Given the description of an element on the screen output the (x, y) to click on. 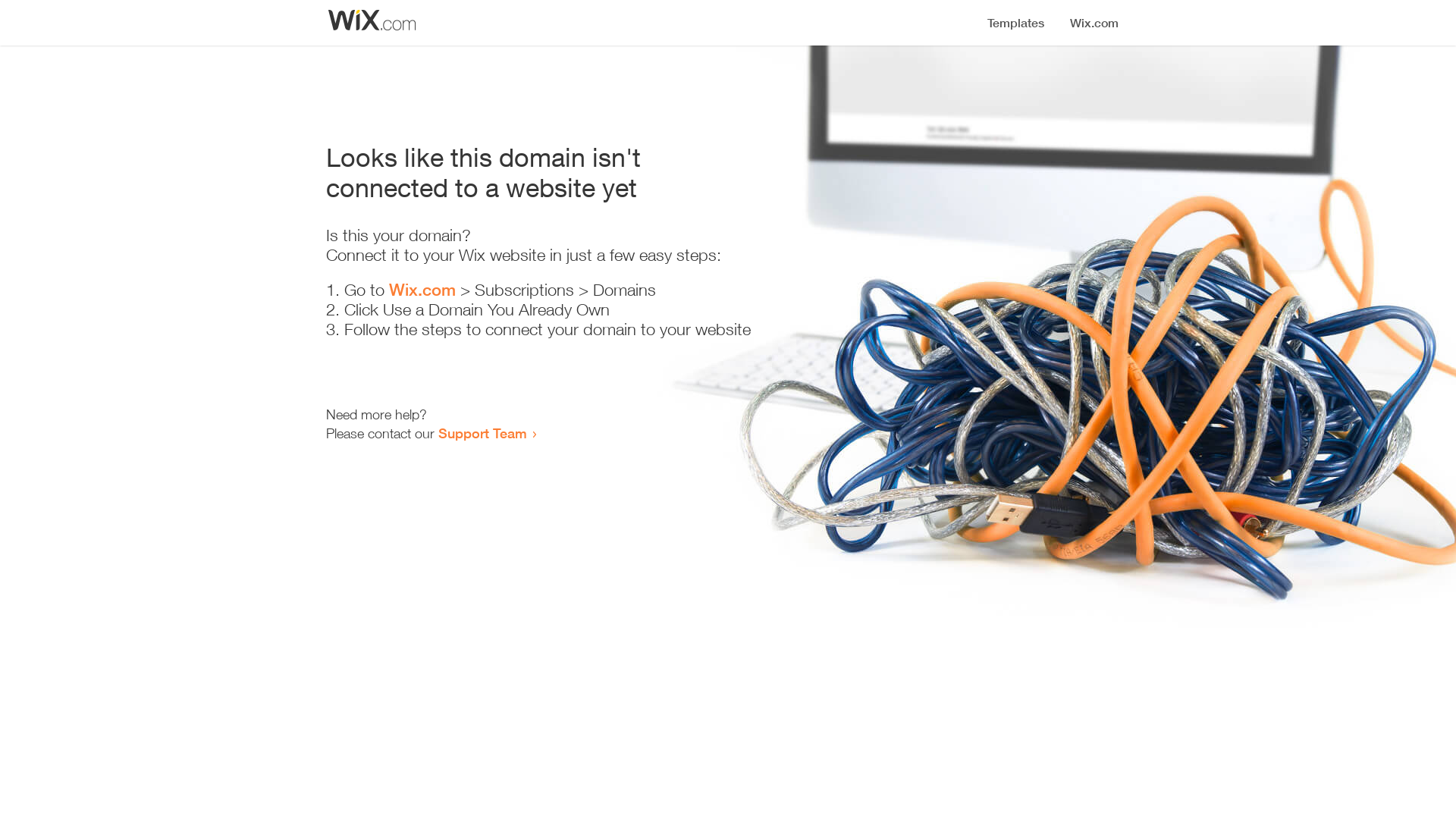
Wix.com Element type: text (422, 289)
Support Team Element type: text (482, 432)
